Given the description of an element on the screen output the (x, y) to click on. 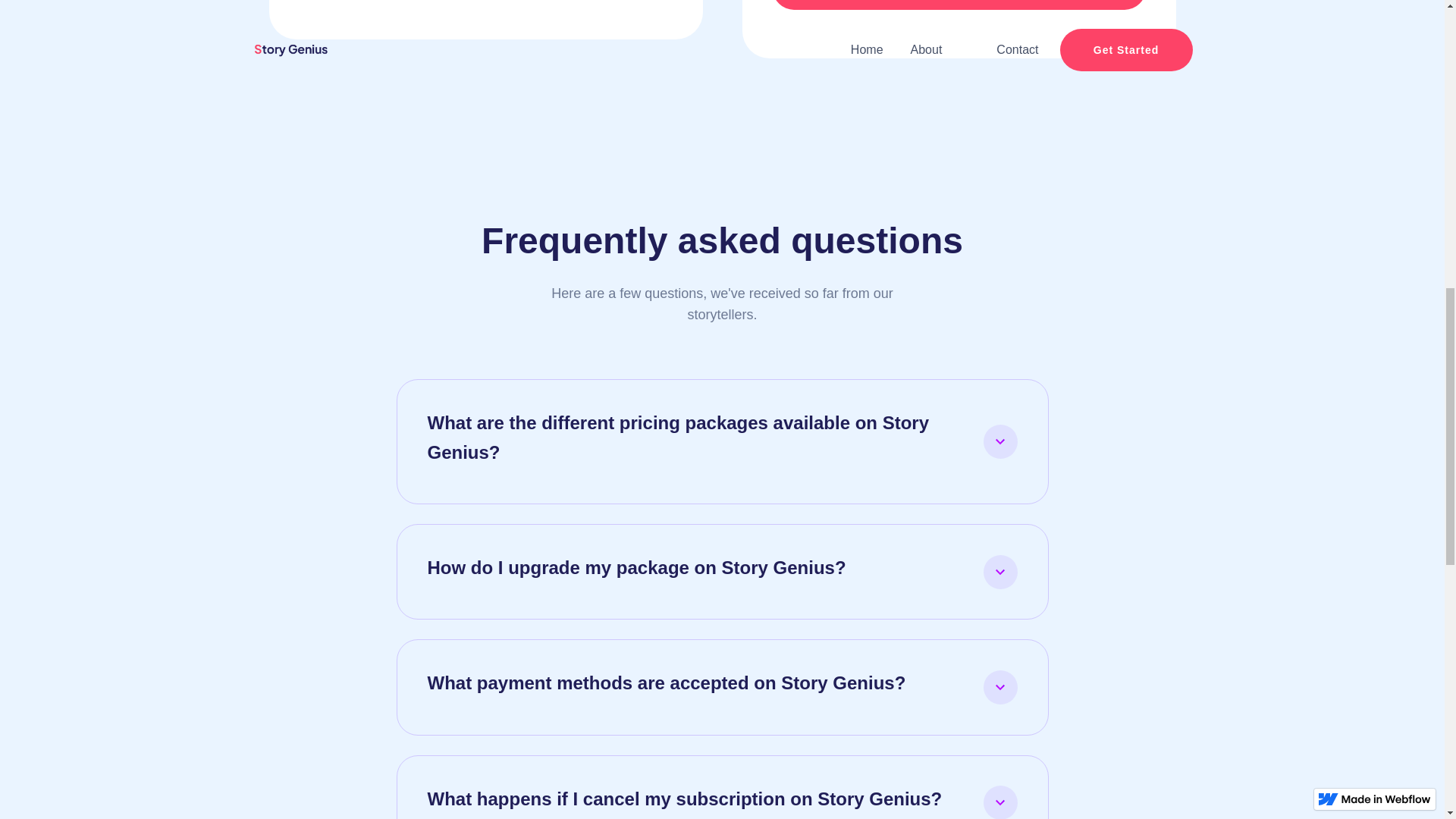
What payment methods are accepted on Story Genius? (722, 686)
How do I upgrade my package on Story Genius? (722, 571)
Get started (957, 4)
What happens if I cancel my subscription on Story Genius? (722, 798)
